Given the description of an element on the screen output the (x, y) to click on. 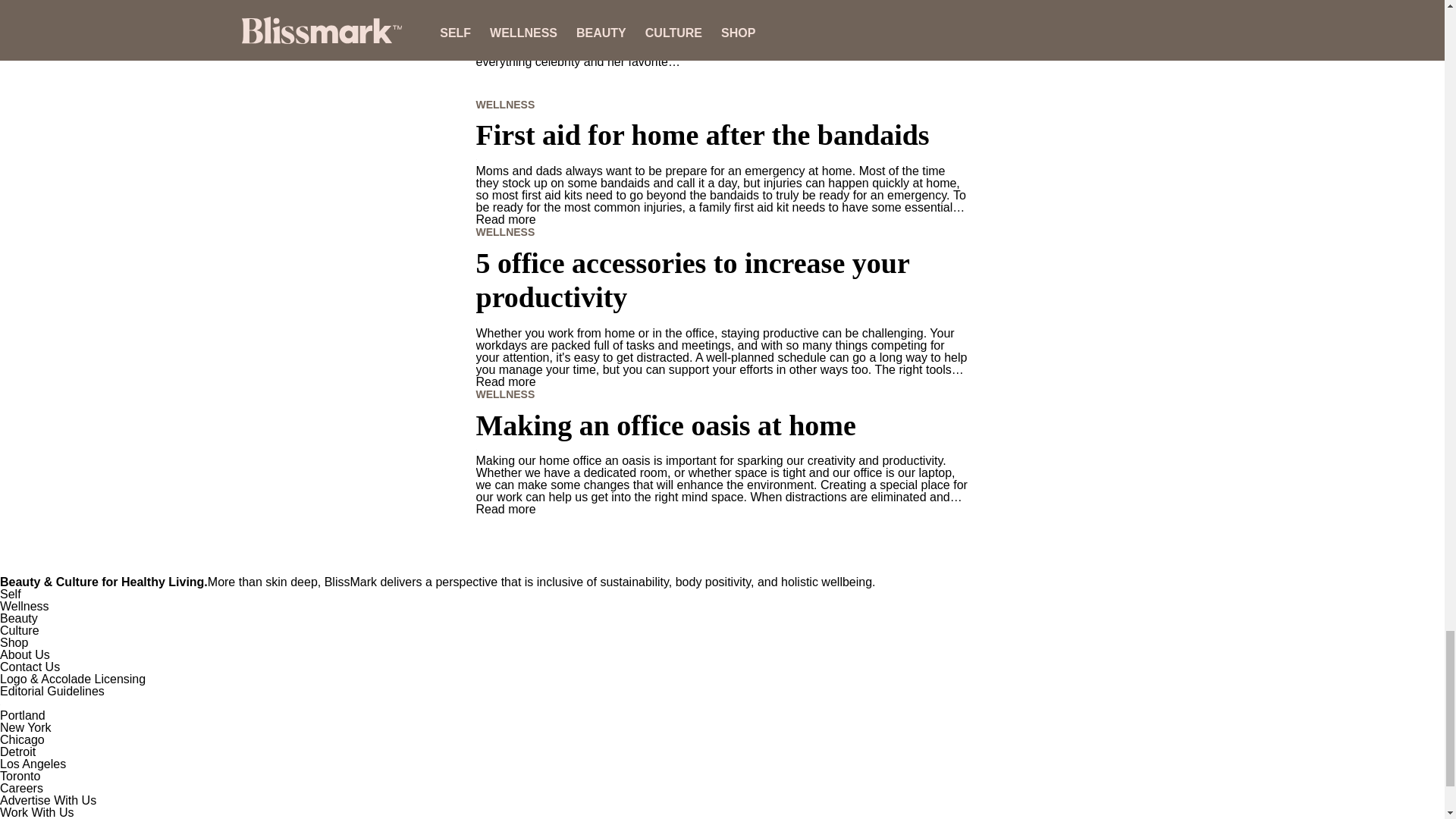
Email (722, 37)
twitter (722, 25)
linkedin (722, 13)
instagram (722, 3)
